Given the description of an element on the screen output the (x, y) to click on. 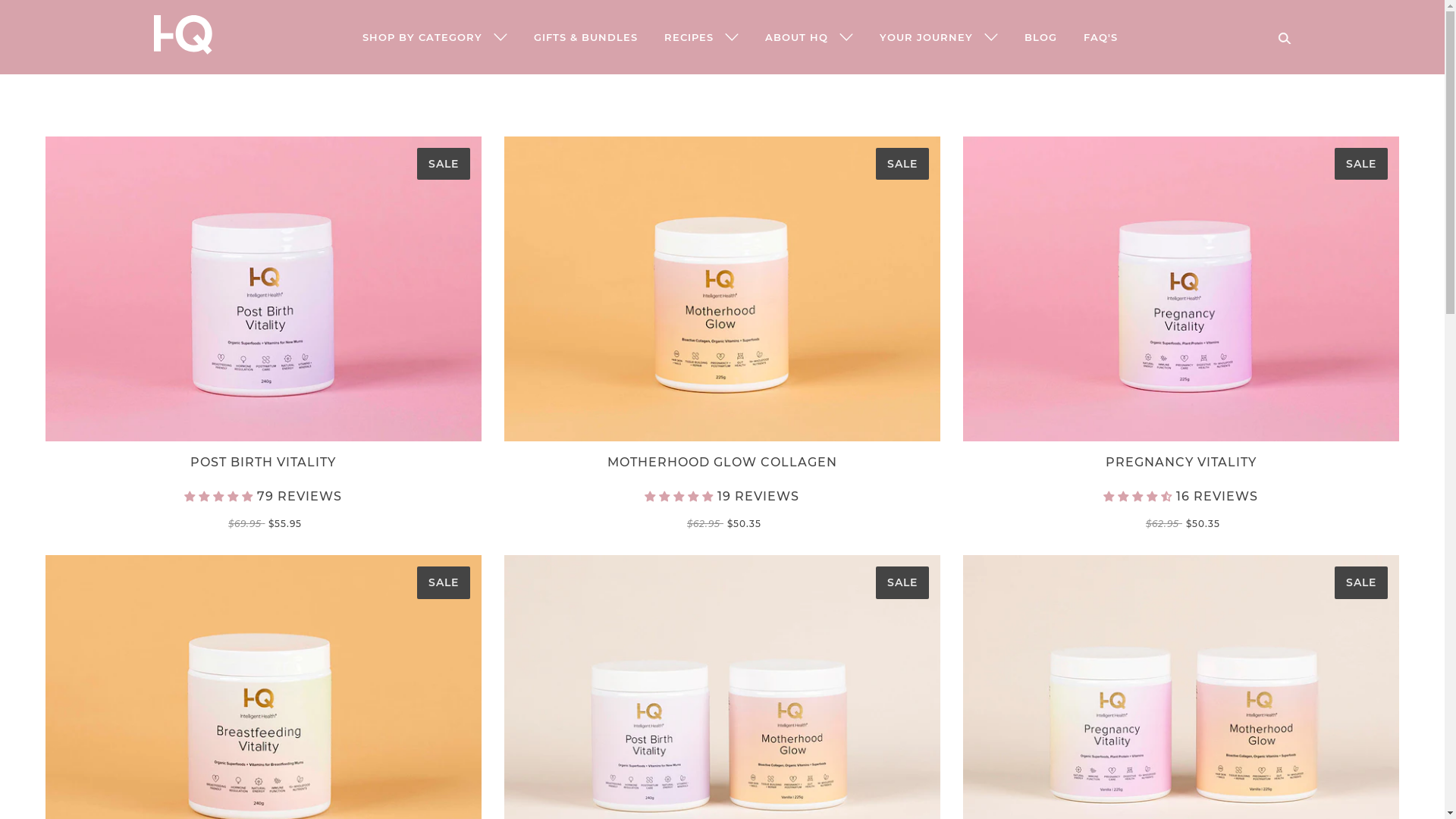
RECIPES Element type: text (700, 37)
FAQ'S Element type: text (1100, 37)
MOTHERHOOD GLOW COLLAGEN Element type: text (722, 466)
$69.95 $55.95 Element type: text (263, 523)
GIFTS & BUNDLES Element type: text (584, 37)
HQ | Intelligent Health Element type: hover (182, 50)
$62.95 $50.35 Element type: text (1181, 523)
SHOP BY CATEGORY Element type: text (433, 37)
BLOG Element type: text (1040, 37)
PREGNANCY VITALITY Element type: text (1181, 466)
ABOUT HQ Element type: text (808, 37)
$62.95 $50.35 Element type: text (722, 523)
YOUR JOURNEY Element type: text (937, 37)
POST BIRTH VITALITY Element type: text (263, 466)
